Given the description of an element on the screen output the (x, y) to click on. 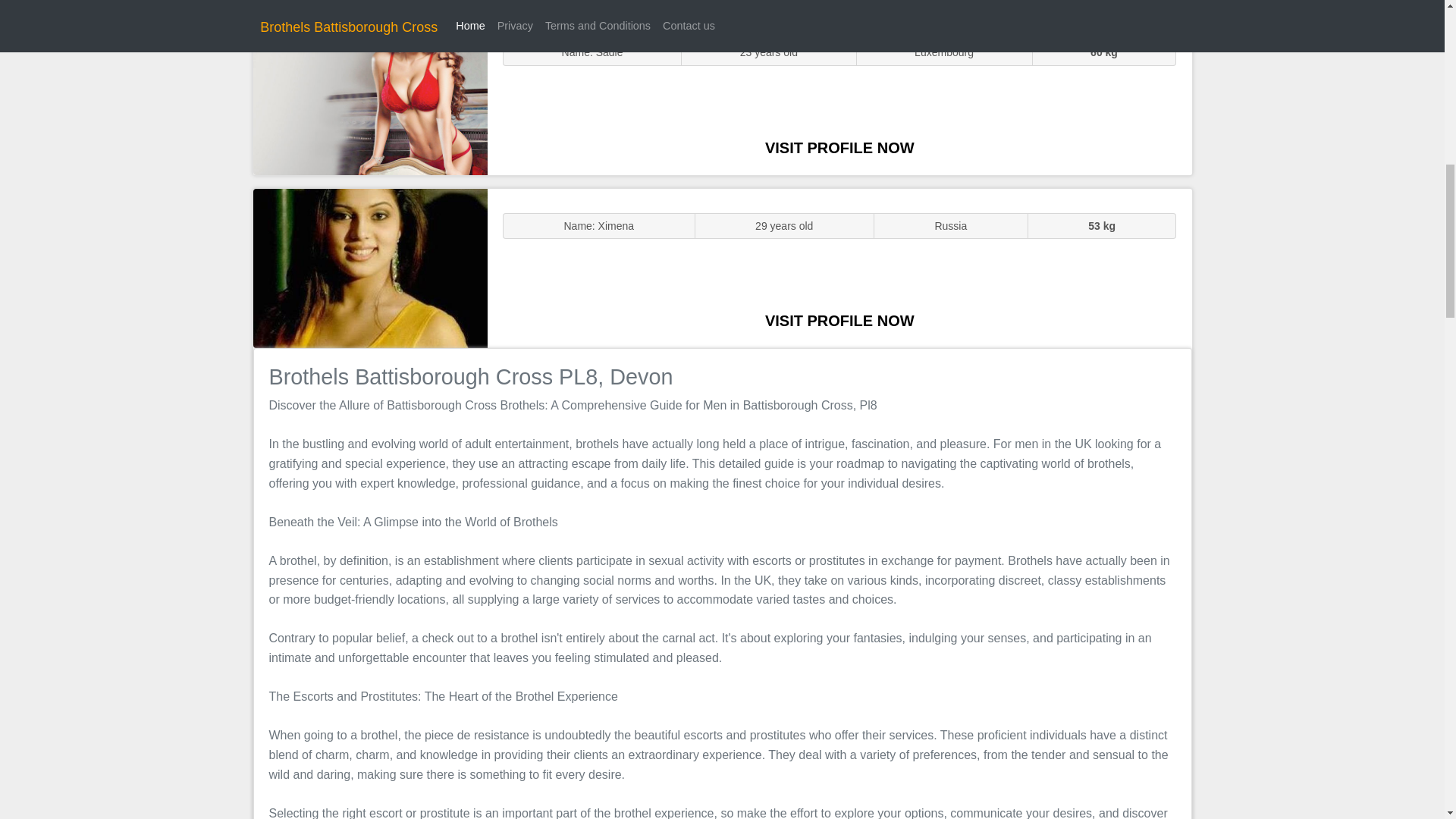
Sluts (370, 94)
VISIT PROFILE NOW (839, 147)
Massage (370, 267)
VISIT PROFILE NOW (839, 320)
